Given the description of an element on the screen output the (x, y) to click on. 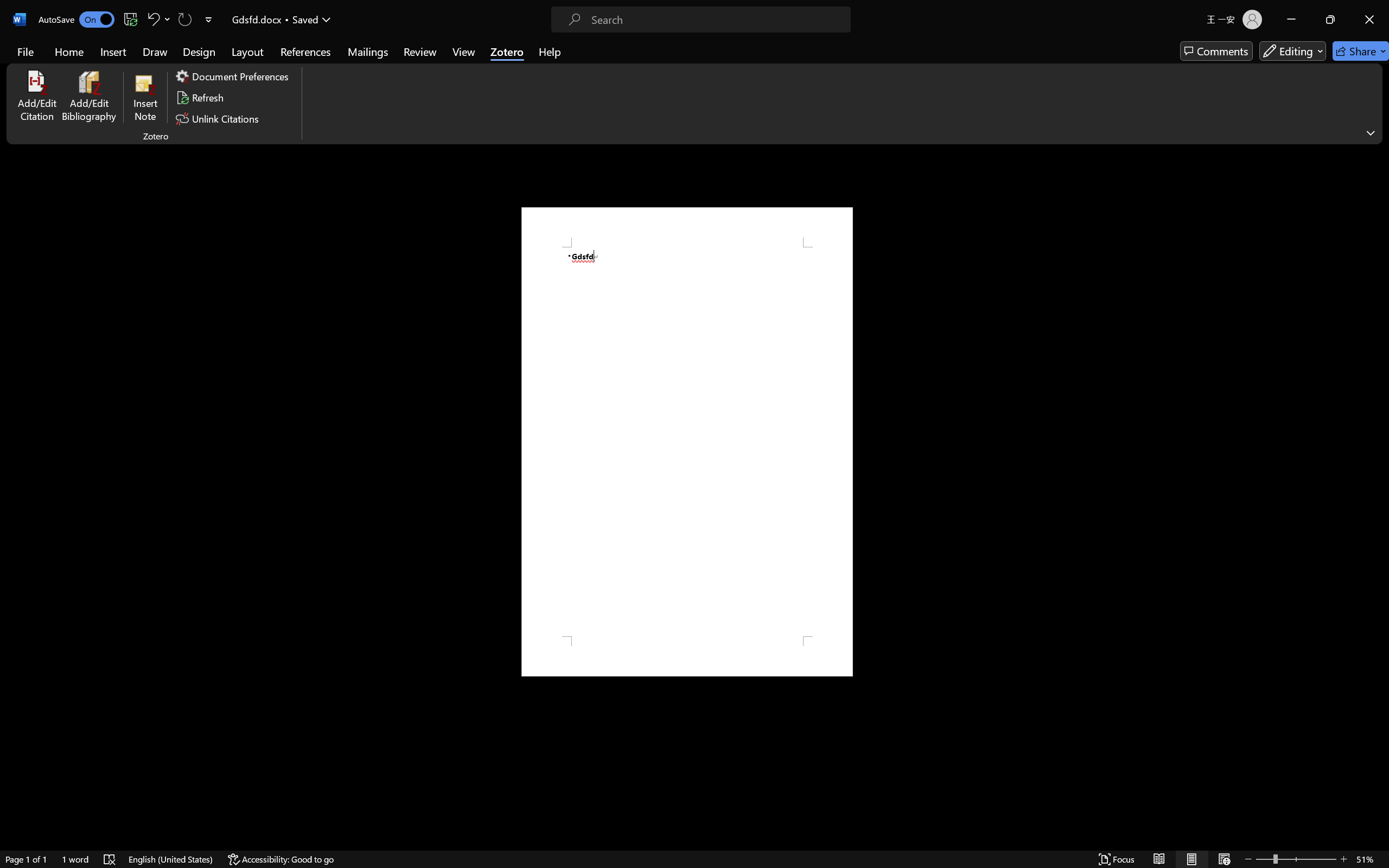
Page 1 content (686, 441)
